Given the description of an element on the screen output the (x, y) to click on. 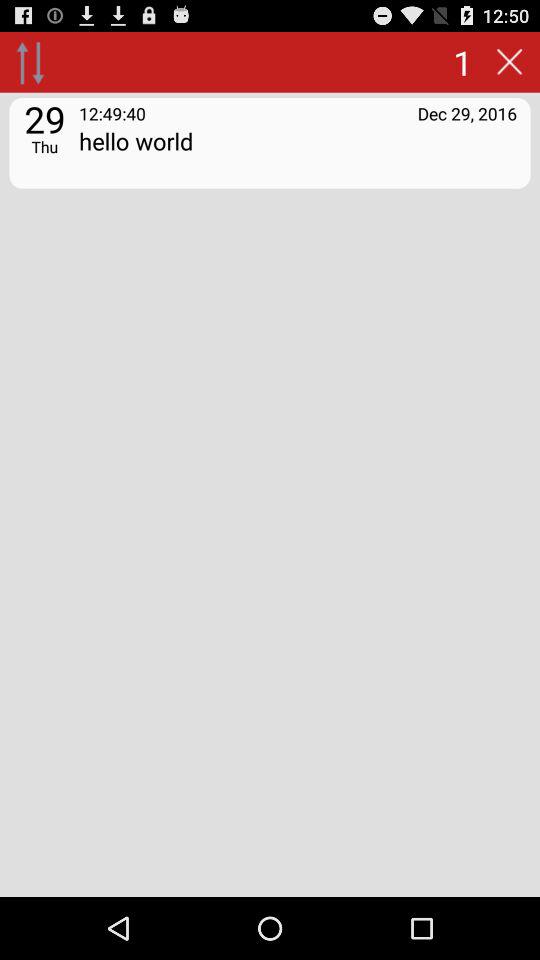
choose the item next to the dec 29, 2016 (112, 112)
